Given the description of an element on the screen output the (x, y) to click on. 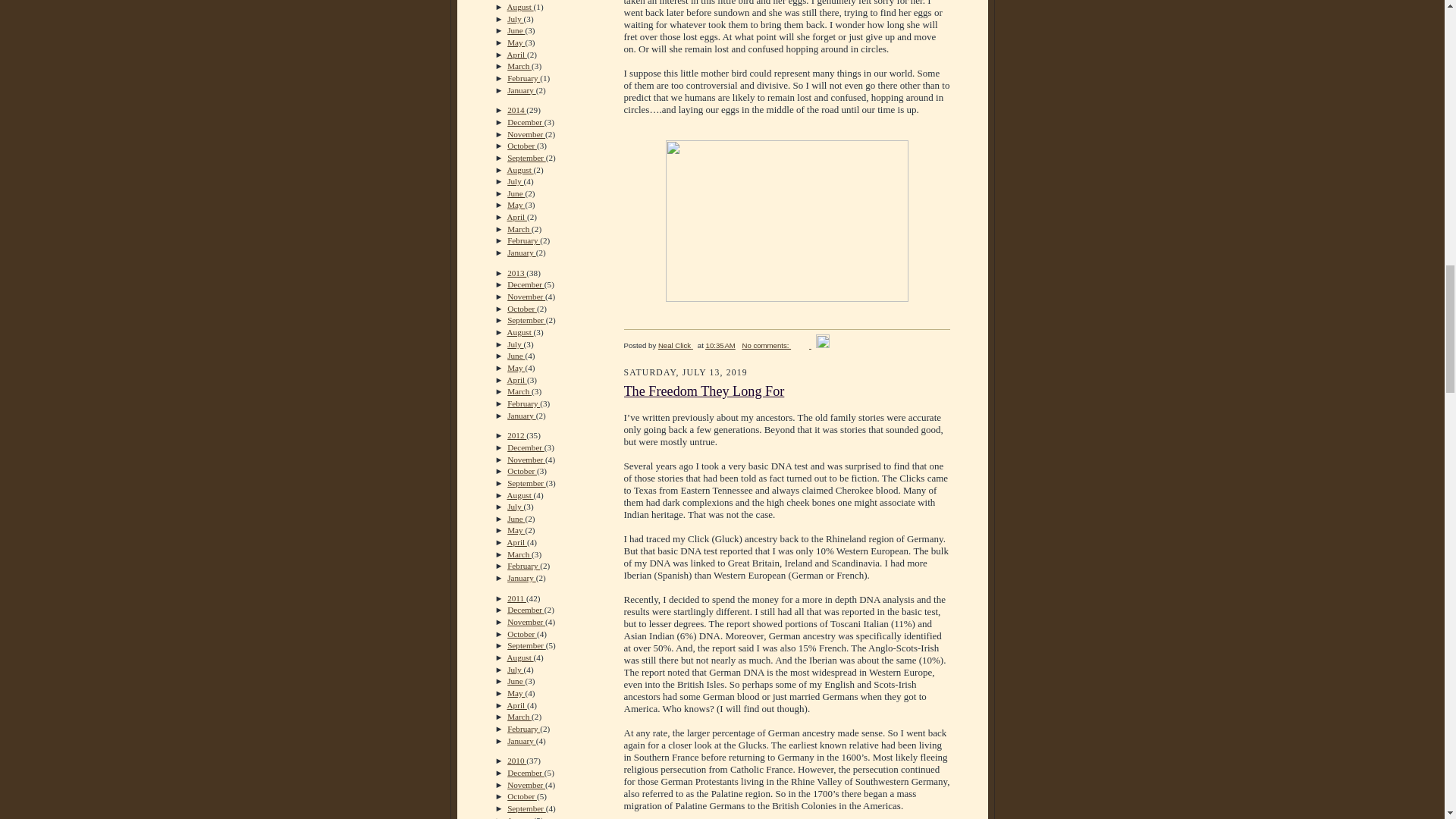
Email Post (802, 345)
author profile (675, 345)
Edit Post (822, 345)
permanent link (720, 345)
